Given the description of an element on the screen output the (x, y) to click on. 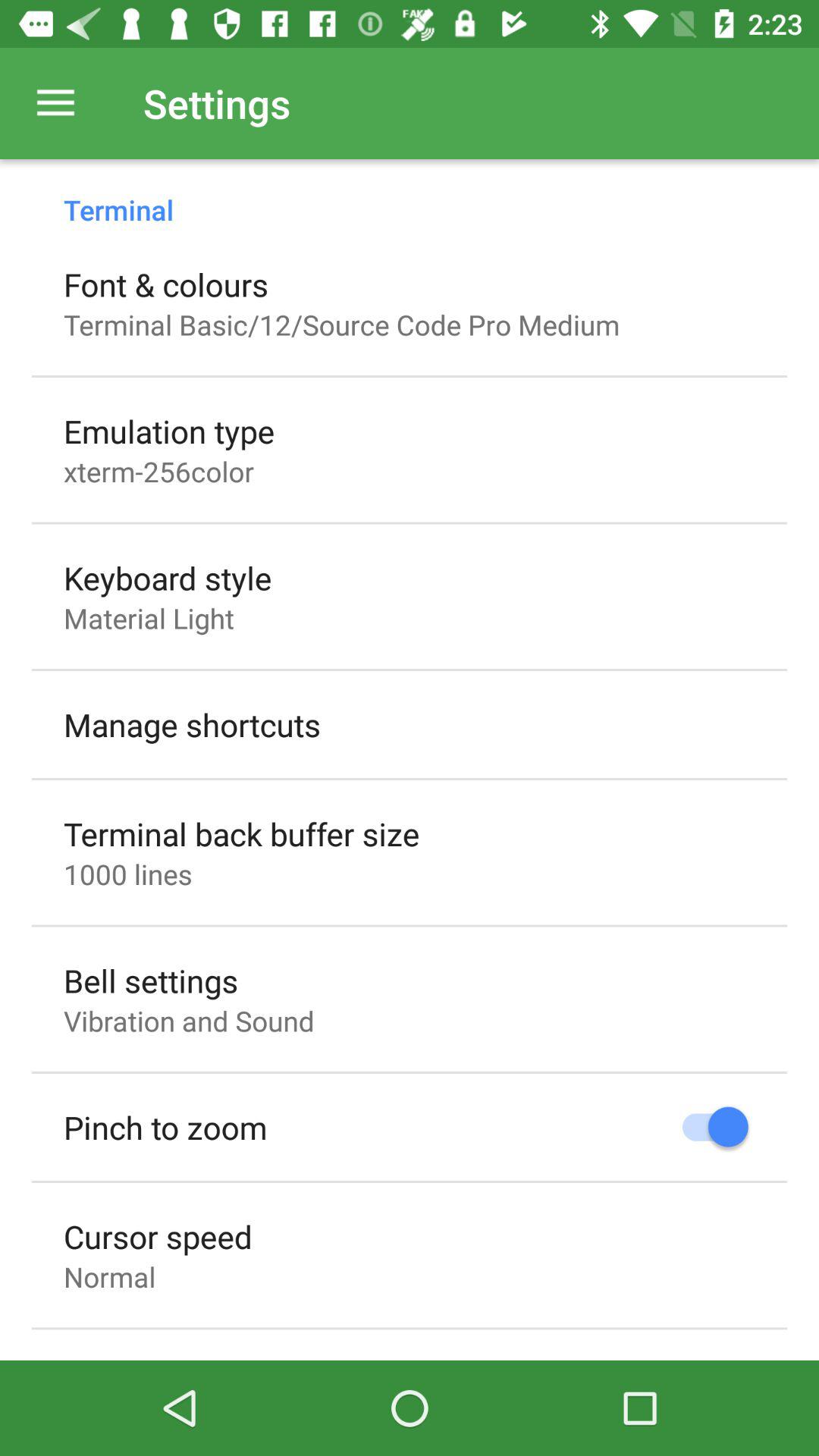
turn on the keyboard style item (167, 577)
